Given the description of an element on the screen output the (x, y) to click on. 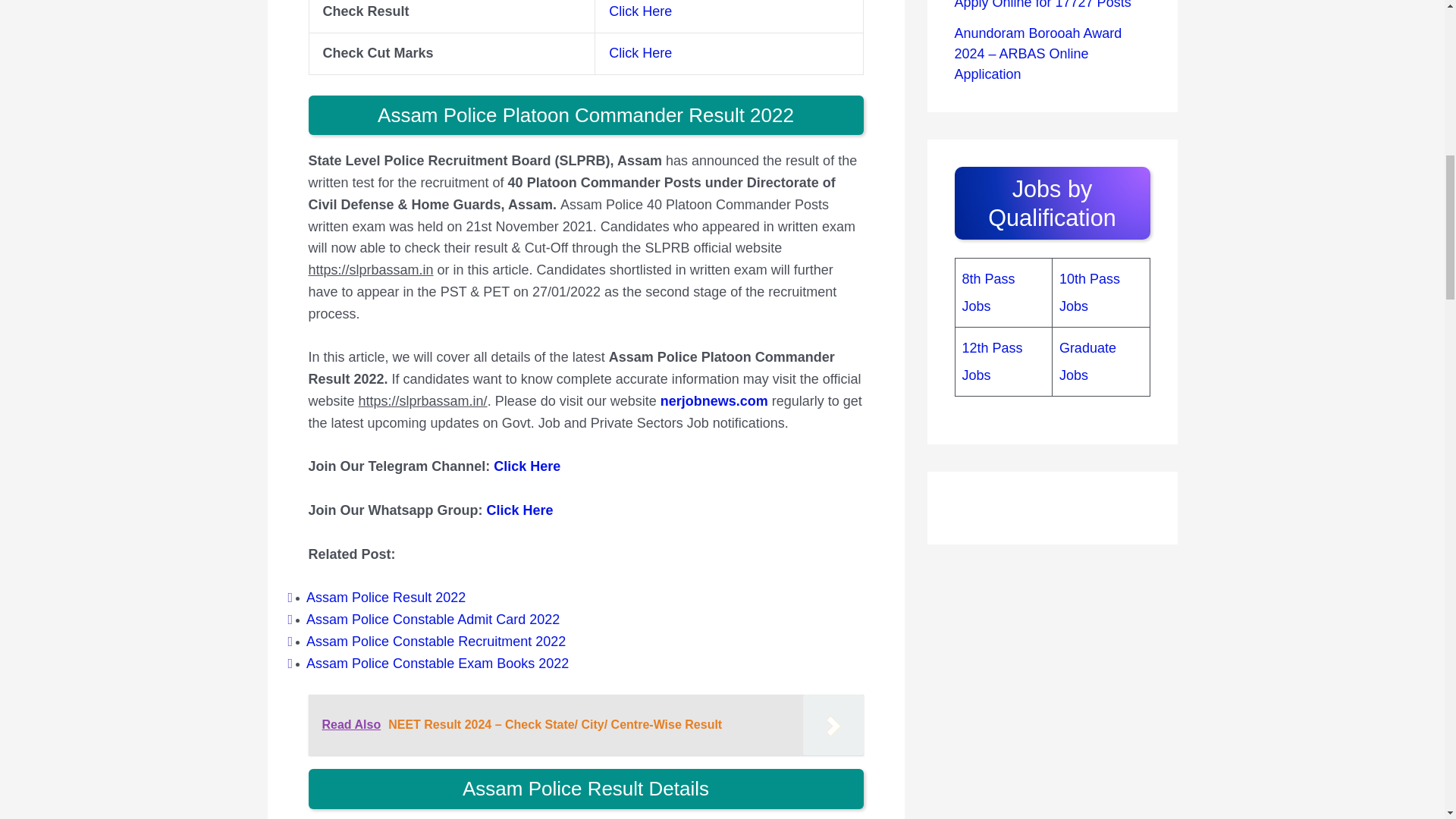
Click Here (639, 11)
nerjobnews.com (714, 400)
Click Here (639, 52)
Assam Police Constable Recruitment 2022 (435, 641)
Assam Police Constable Admit Card 2022 (432, 619)
Click Here (519, 509)
Assam Police Constable Exam Books 2022 (437, 663)
Assam Police Result 2022 (385, 597)
Click Here (526, 466)
